Given the description of an element on the screen output the (x, y) to click on. 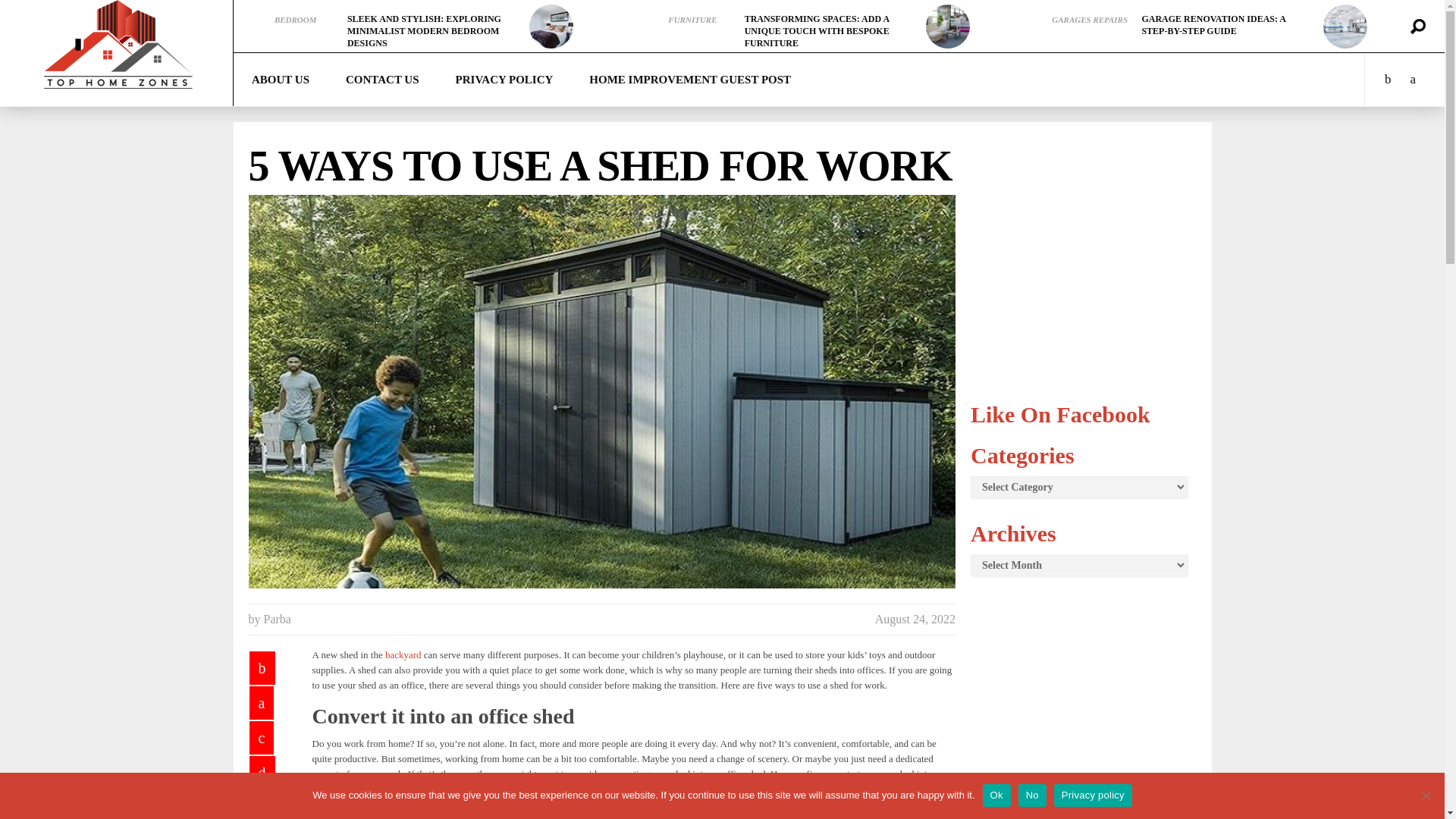
Home Improvement Guest Post (689, 79)
HOME IMPROVEMENT GUEST POST (689, 79)
Garage Renovation Ideas: A Step-by-Step Guide (1213, 24)
Bedroom (296, 19)
BEDROOM (296, 19)
Posts by Parba (277, 618)
backyard (403, 654)
CONTACT US (382, 79)
Share this post on Facebook (261, 667)
Garage Renovation Ideas: A Step-by-Step Guide (1345, 26)
Privacy Policy (505, 79)
